Given the description of an element on the screen output the (x, y) to click on. 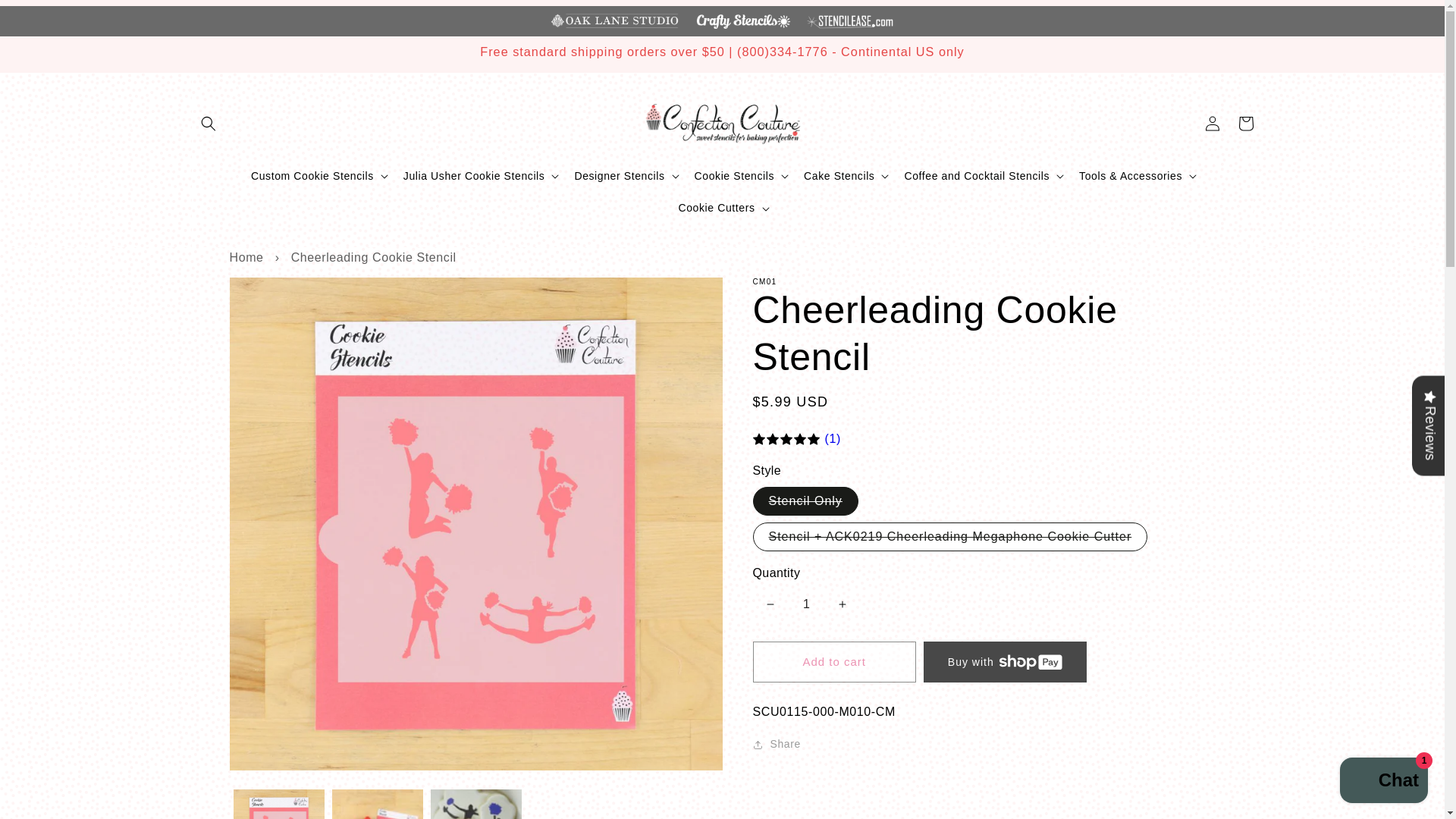
Shopify online store chat (1383, 781)
1 (806, 604)
Skip to content (45, 17)
